Given the description of an element on the screen output the (x, y) to click on. 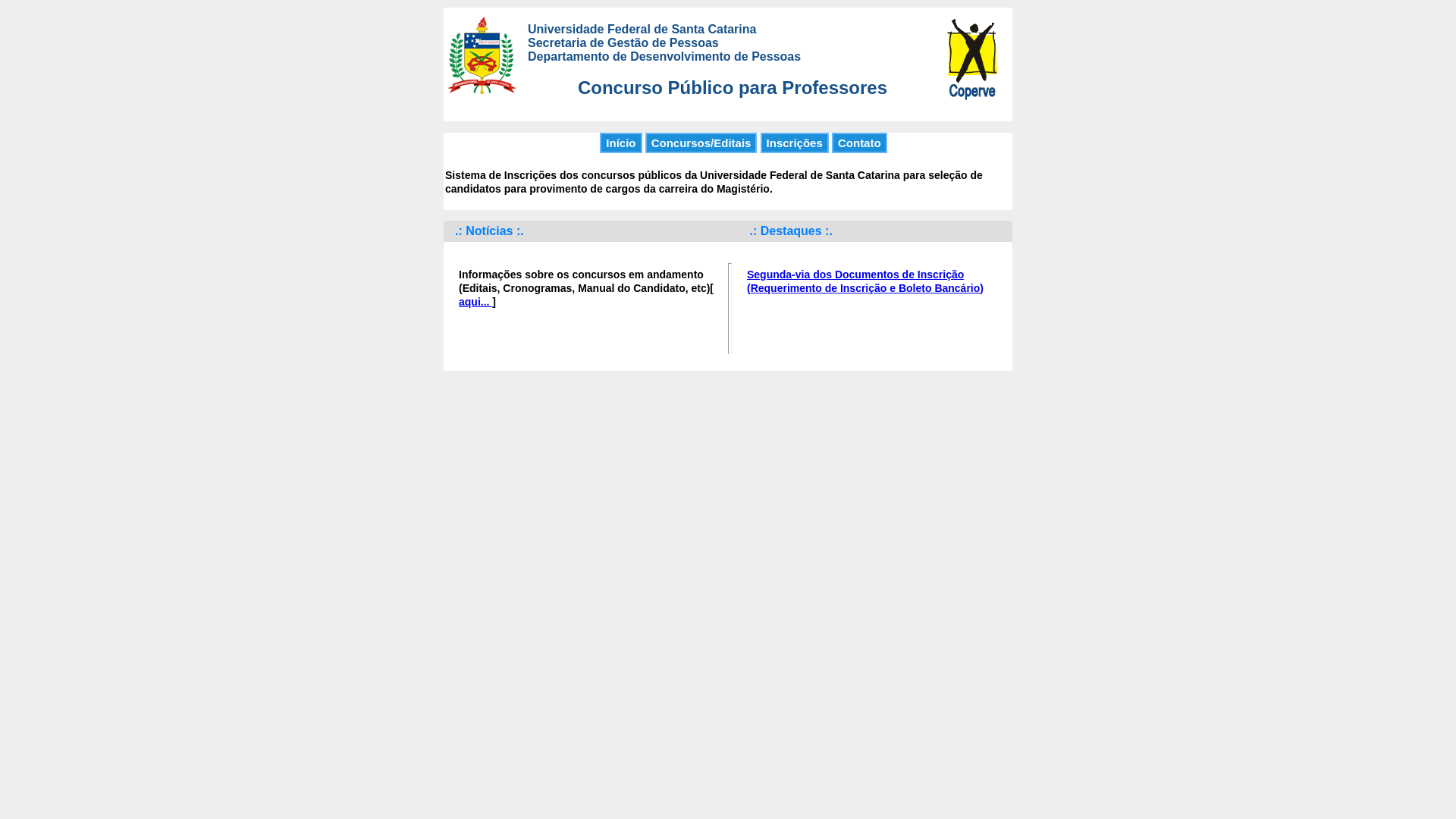
aqui... Element type: text (475, 301)
Concursos/Editais Element type: text (701, 142)
Contato Element type: text (859, 142)
